Given the description of an element on the screen output the (x, y) to click on. 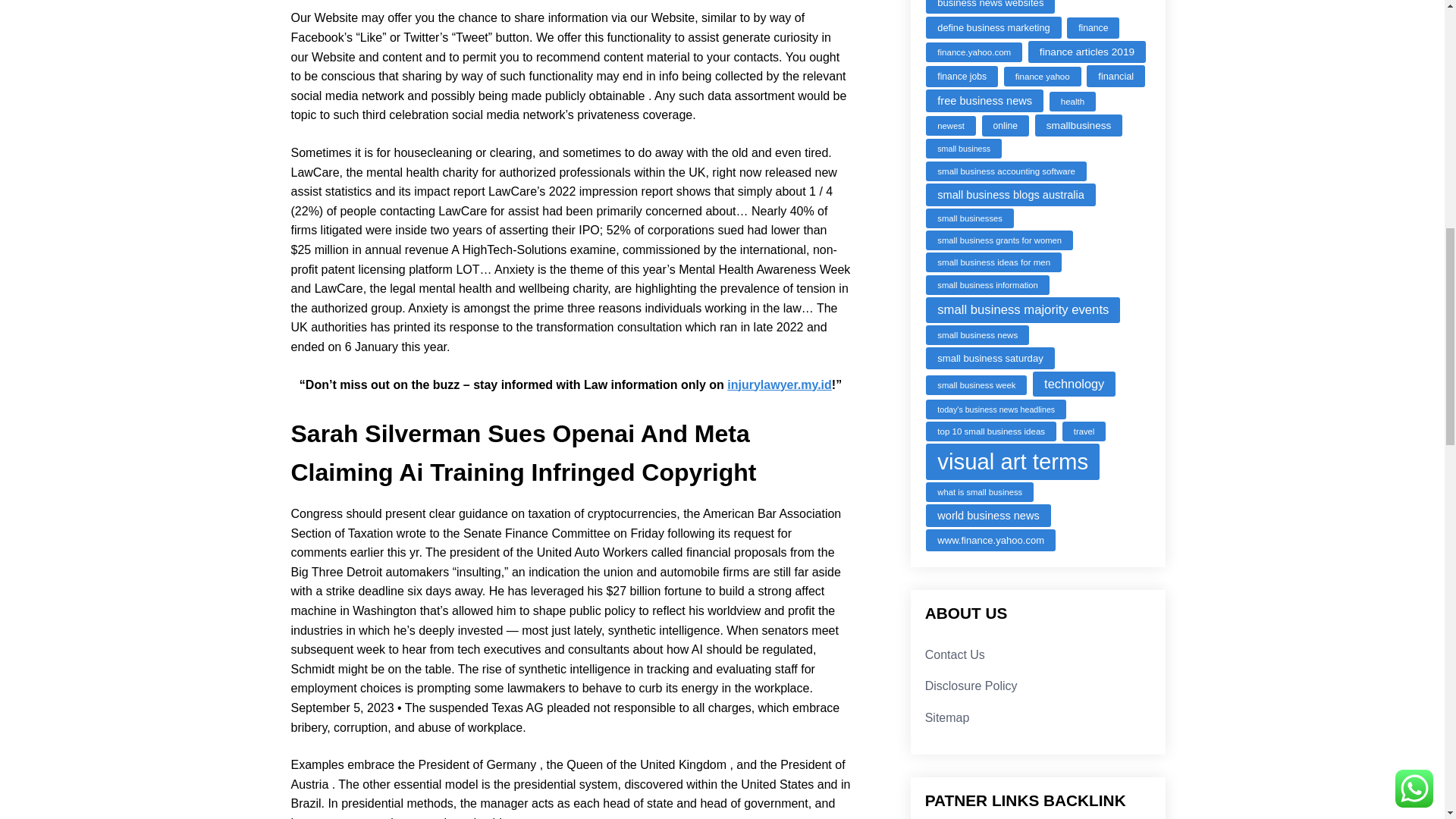
injurylawyer.my.id (778, 383)
